Given the description of an element on the screen output the (x, y) to click on. 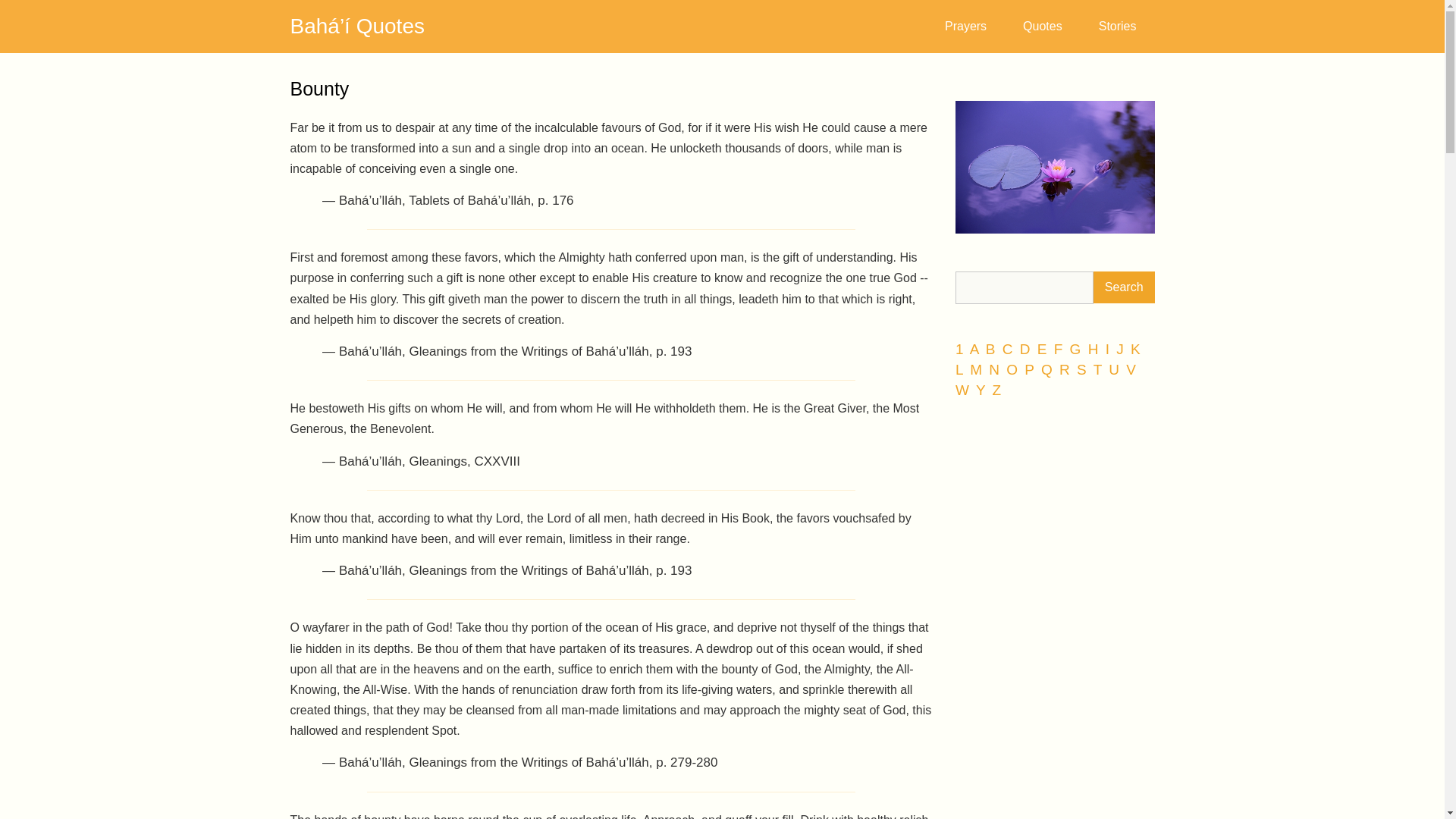
W (963, 390)
Home (356, 25)
Quotes (1042, 26)
Search (1123, 287)
Search (1123, 287)
Stories (1117, 26)
Prayers (965, 26)
Enter the terms you wish to search for. (1024, 287)
